Given the description of an element on the screen output the (x, y) to click on. 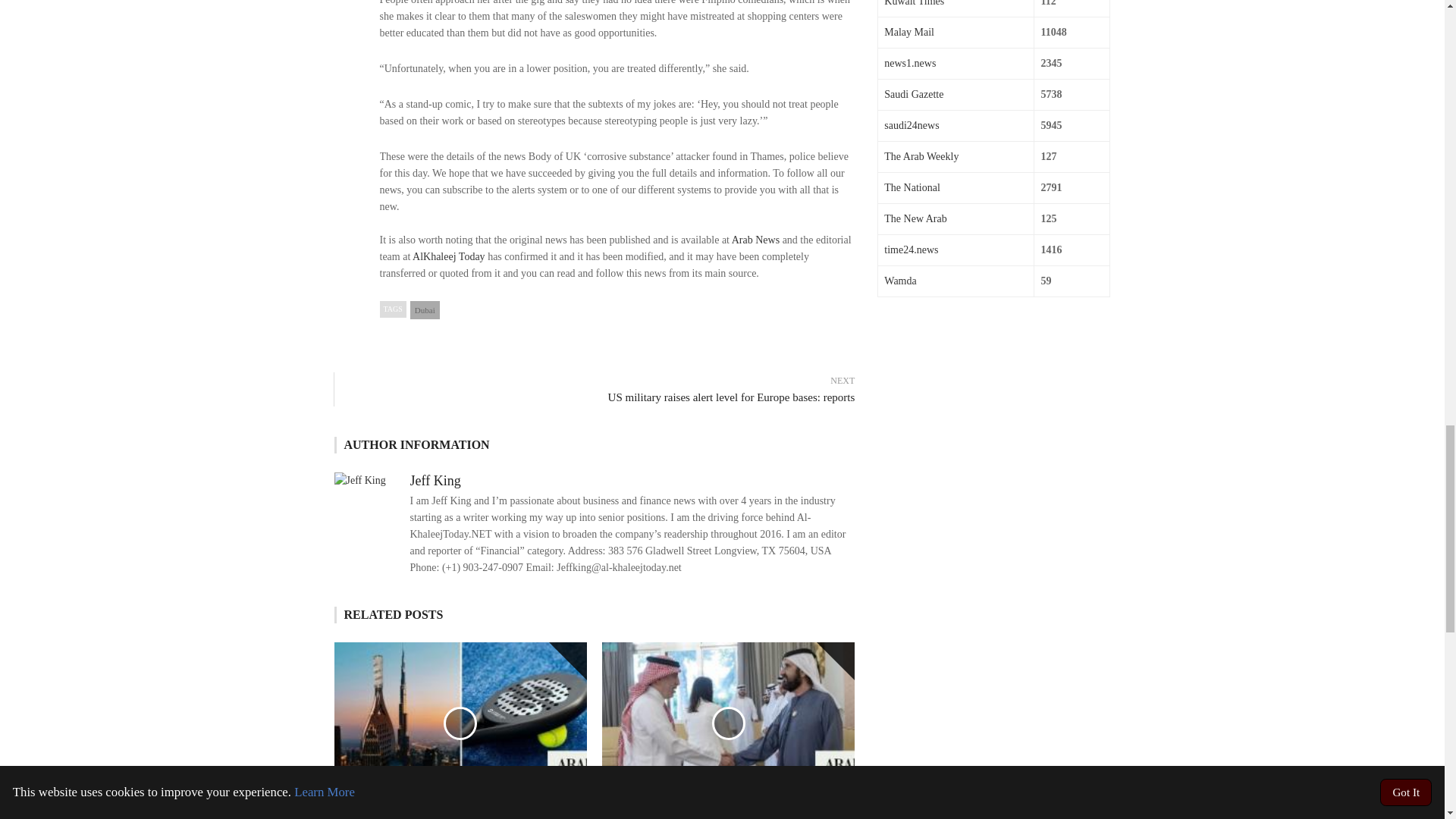
Arab News (755, 239)
Jeff King (434, 480)
Dubai (424, 310)
US military raises alert level for Europe bases: reports (601, 397)
AlKhaleej Today (448, 256)
